Given the description of an element on the screen output the (x, y) to click on. 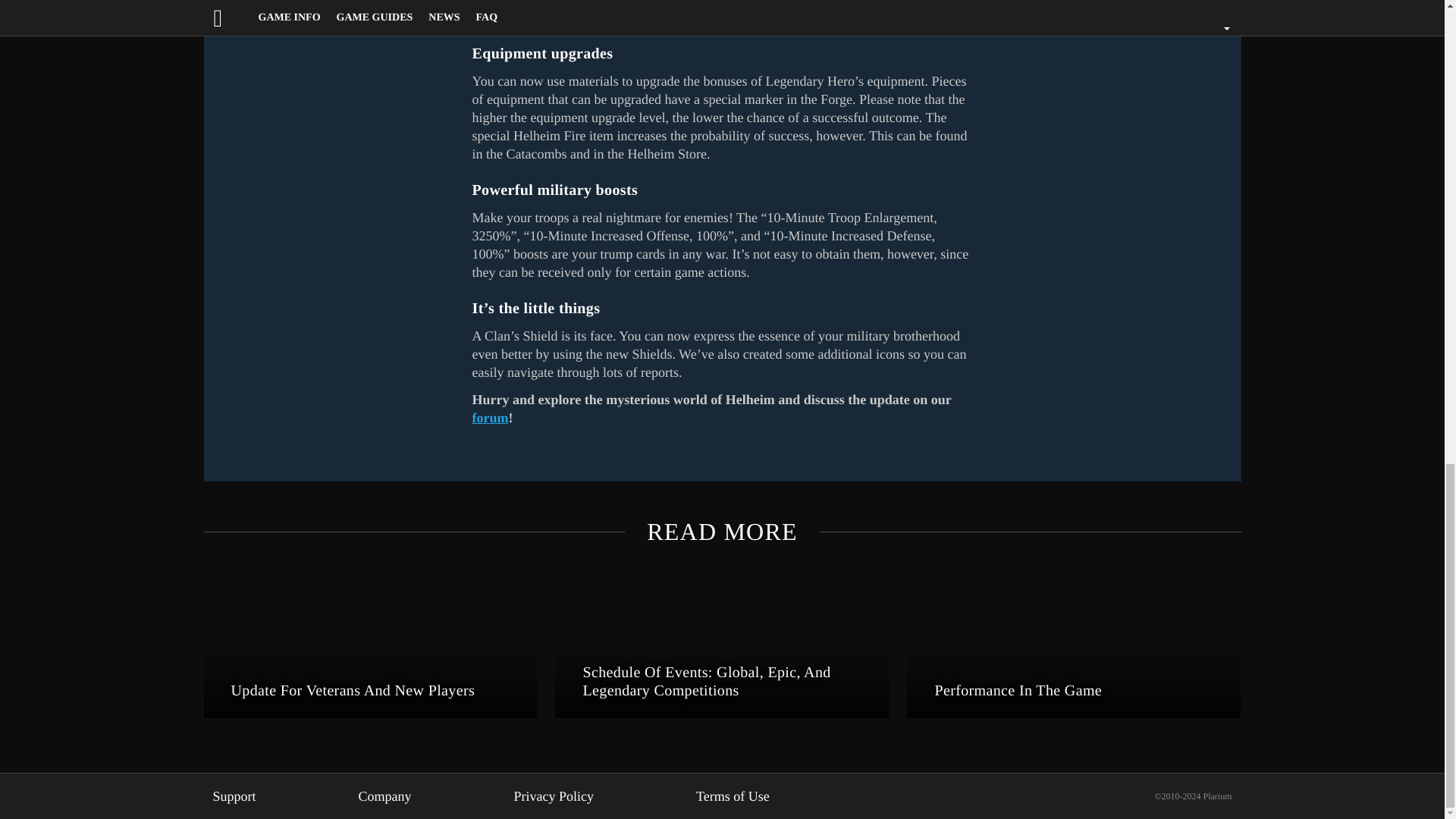
forum (489, 417)
Schedule Of Events: Global, Epic, And Legendary Competitions (721, 640)
Performance In The Game (1073, 640)
Update For Veterans And New Players (370, 640)
Privacy Policy (553, 795)
Company (385, 795)
Terms of Use (732, 795)
Support (234, 795)
